Given the description of an element on the screen output the (x, y) to click on. 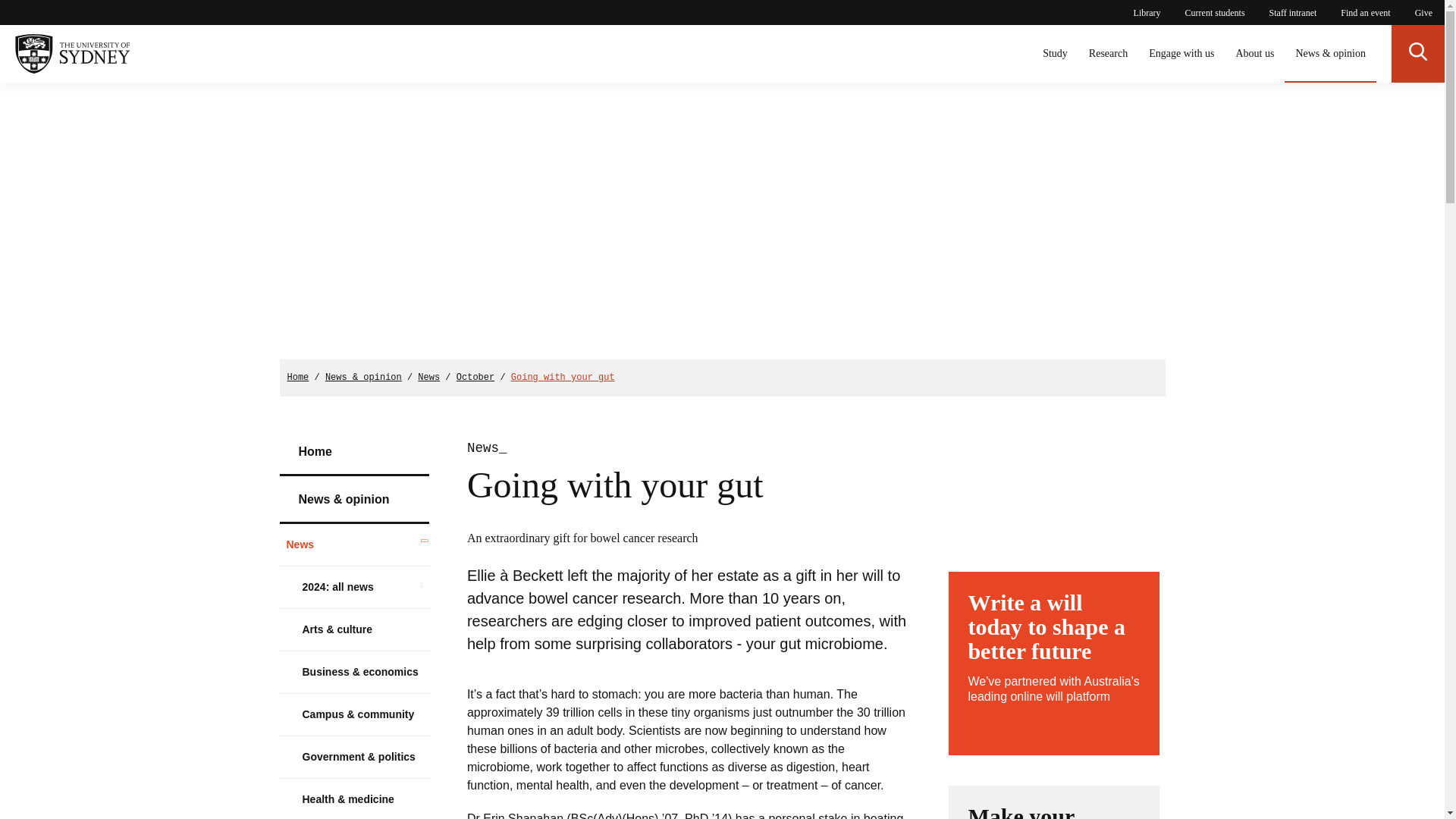
Home (297, 377)
Library (1147, 12)
October (476, 377)
2024: all news (354, 587)
About us (1254, 53)
Going with your gut (562, 377)
News (354, 544)
University of Sydney (64, 53)
Research (1108, 53)
Find an event (1365, 12)
